Given the description of an element on the screen output the (x, y) to click on. 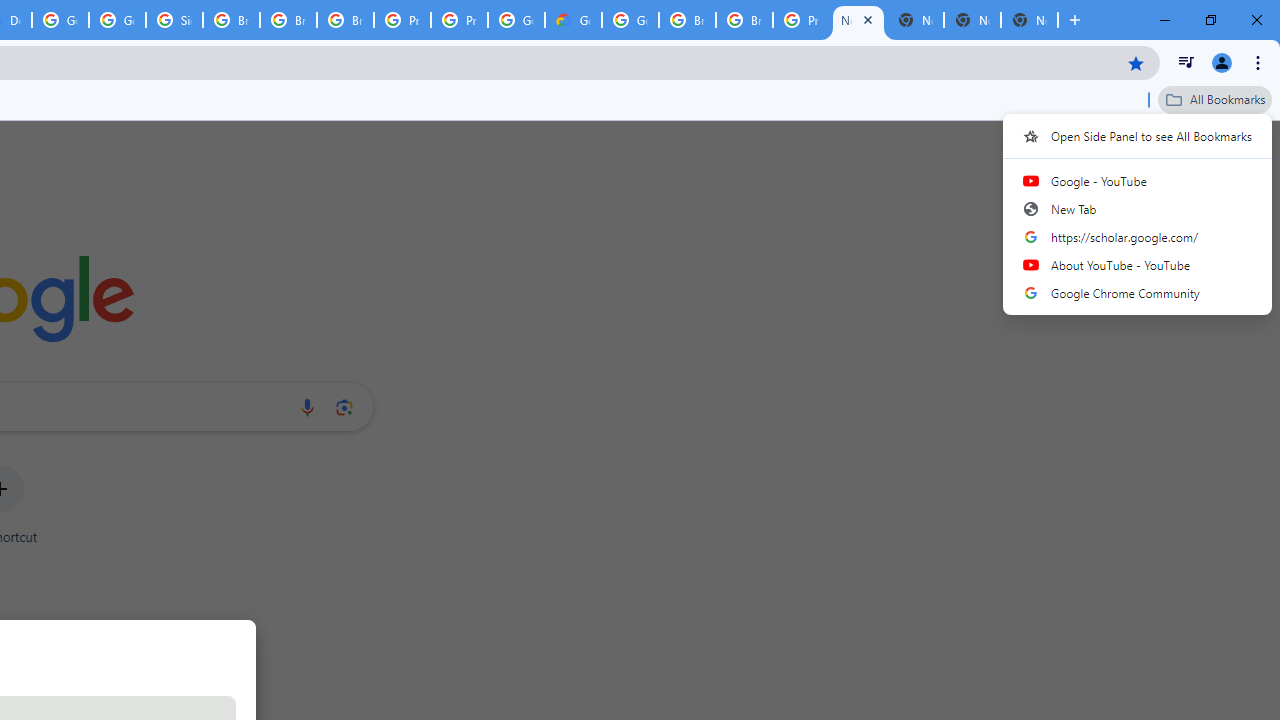
Browse Chrome as a guest - Computer - Google Chrome Help (744, 20)
Browse Chrome as a guest - Computer - Google Chrome Help (231, 20)
Browse Chrome as a guest - Computer - Google Chrome Help (288, 20)
Google Cloud Platform (60, 20)
Minimize (1165, 20)
All Bookmarks (1215, 99)
Control your music, videos, and more (1185, 62)
New Tab (1029, 20)
Google Cloud Platform (630, 20)
Open Side Panel to see All Bookmarks (1137, 135)
Browse Chrome as a guest - Computer - Google Chrome Help (345, 20)
Google Cloud Platform (516, 20)
Bookmark this tab (1135, 62)
